Given the description of an element on the screen output the (x, y) to click on. 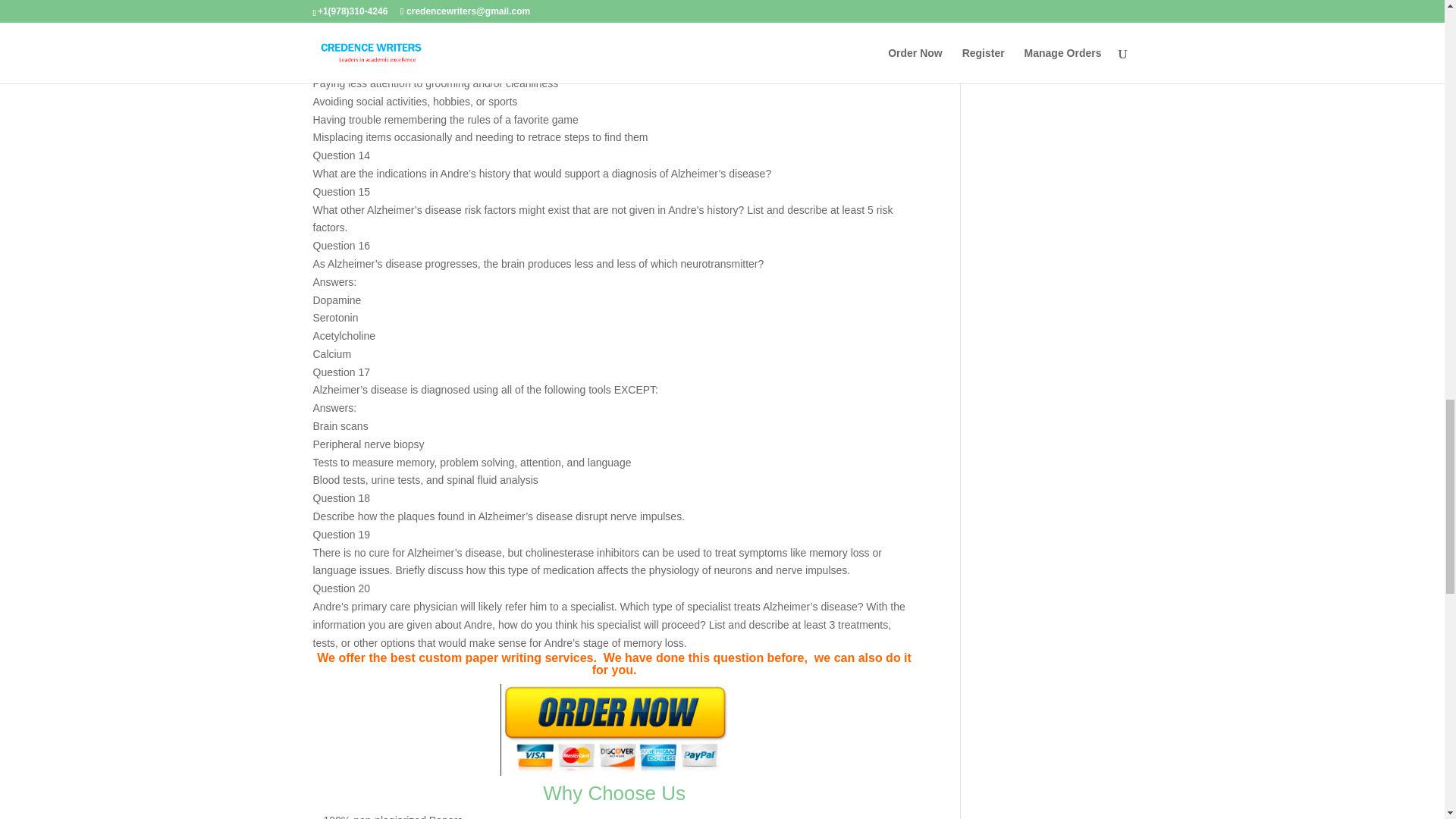
We offer the best custom paper writing services.  (458, 657)
Why Choose Us (614, 793)
